Given the description of an element on the screen output the (x, y) to click on. 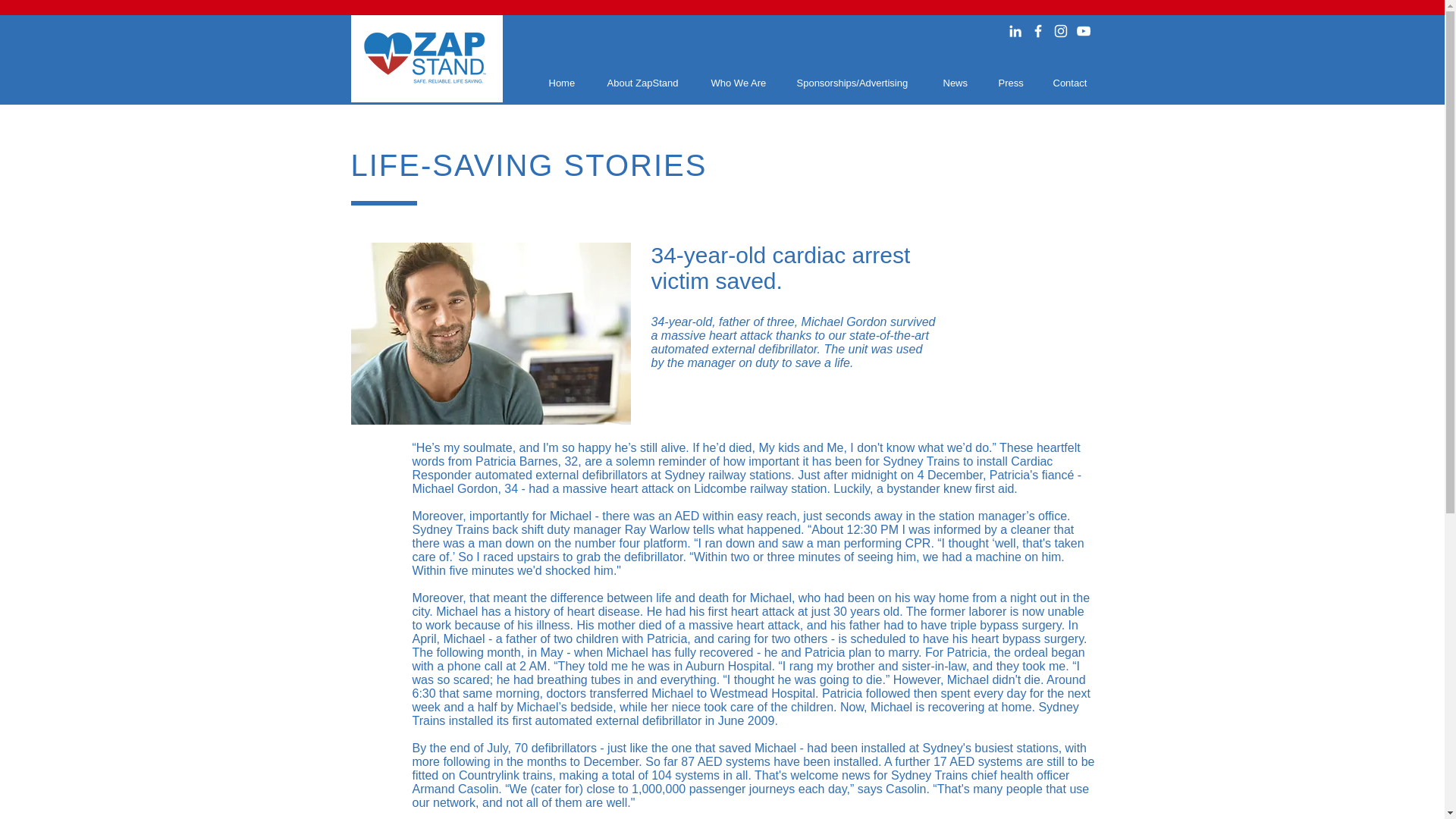
Home (563, 82)
Press (1009, 82)
About ZapStand (643, 82)
News (956, 82)
Contact (1069, 82)
Who We Are (738, 82)
